Given the description of an element on the screen output the (x, y) to click on. 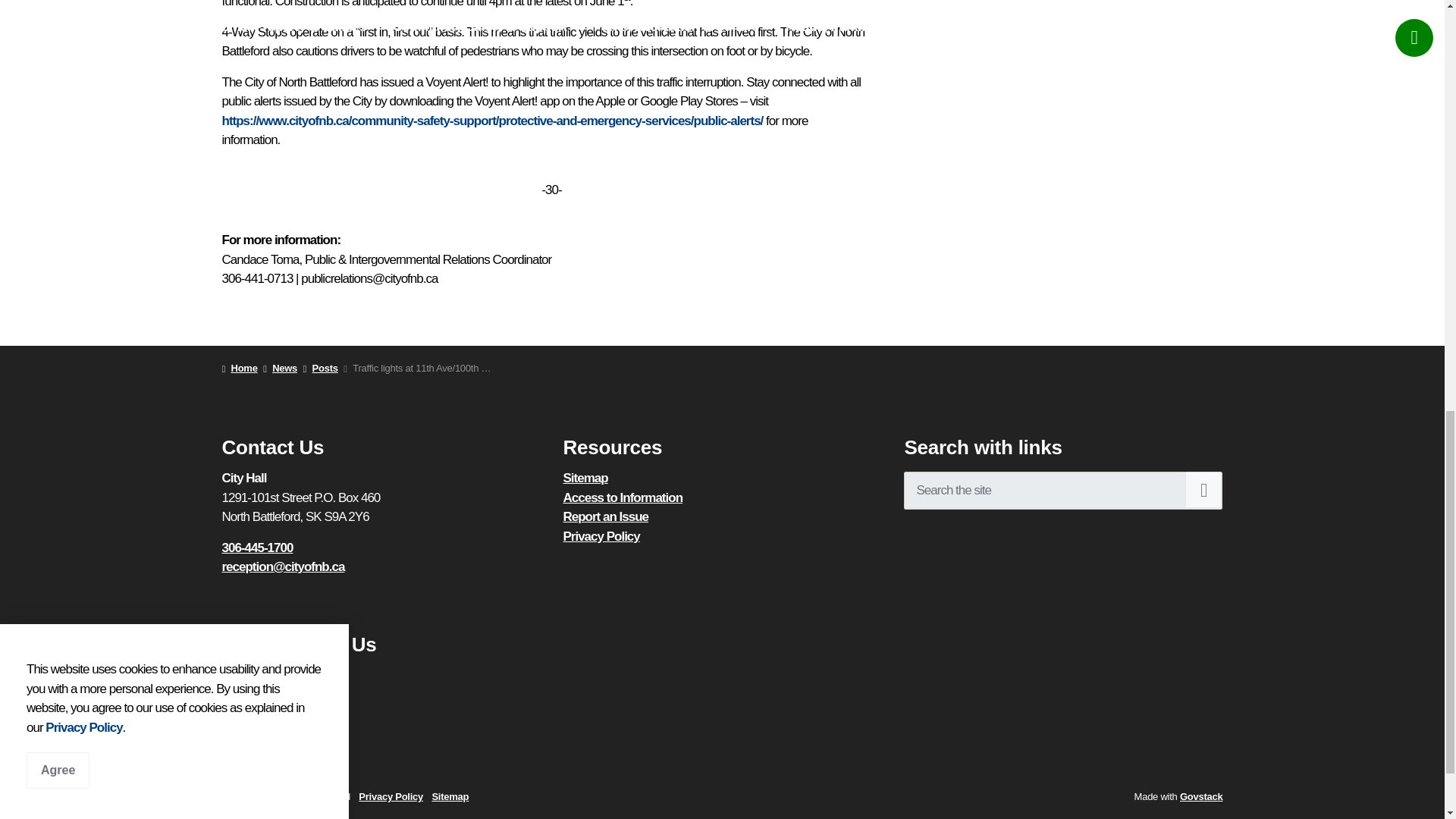
Sitemap (584, 477)
Access to Information Requests (622, 497)
Privacy Policy (600, 536)
Report an Issue (604, 516)
